Given the description of an element on the screen output the (x, y) to click on. 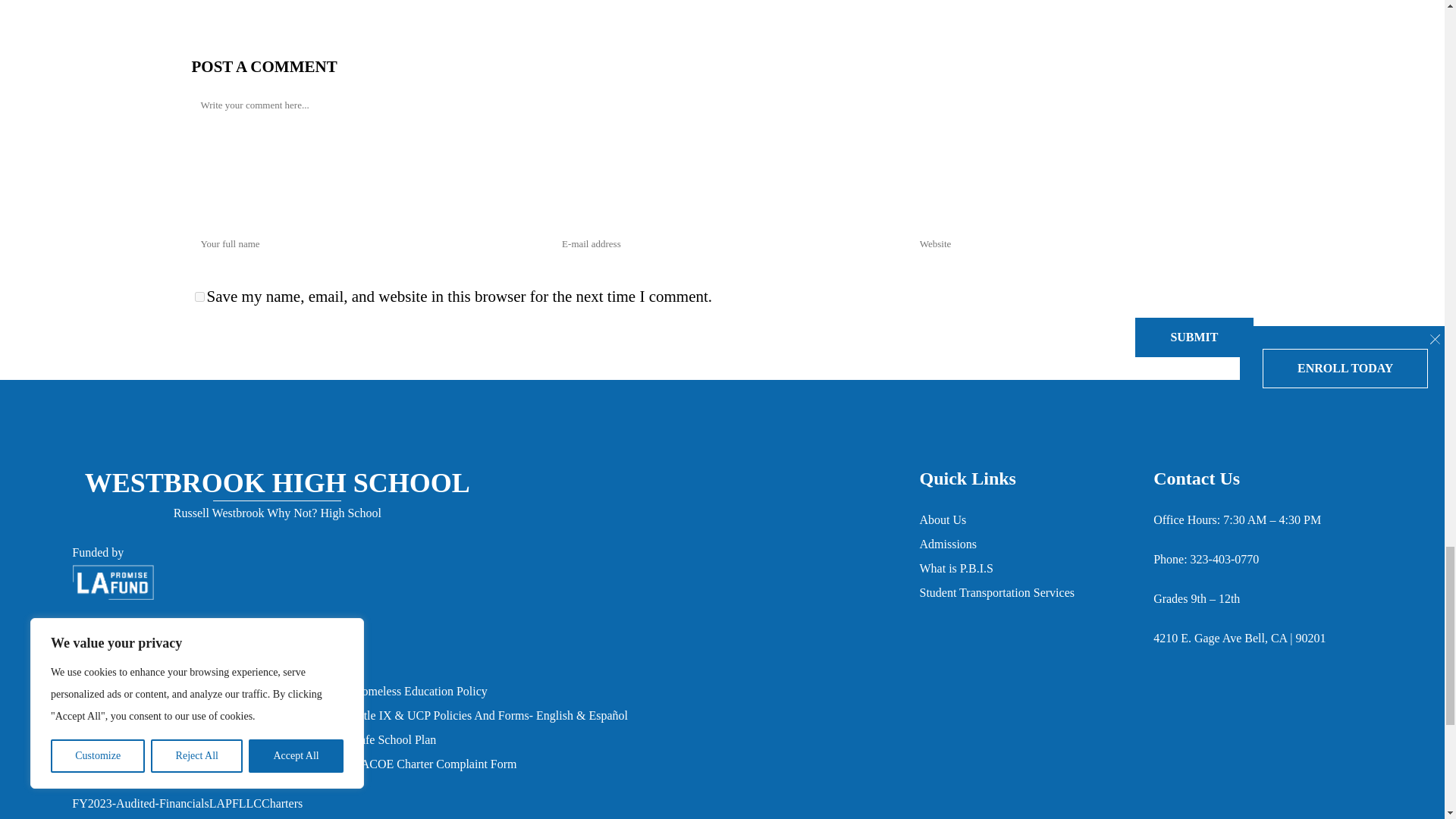
Submit (1193, 336)
yes (198, 296)
